Given the description of an element on the screen output the (x, y) to click on. 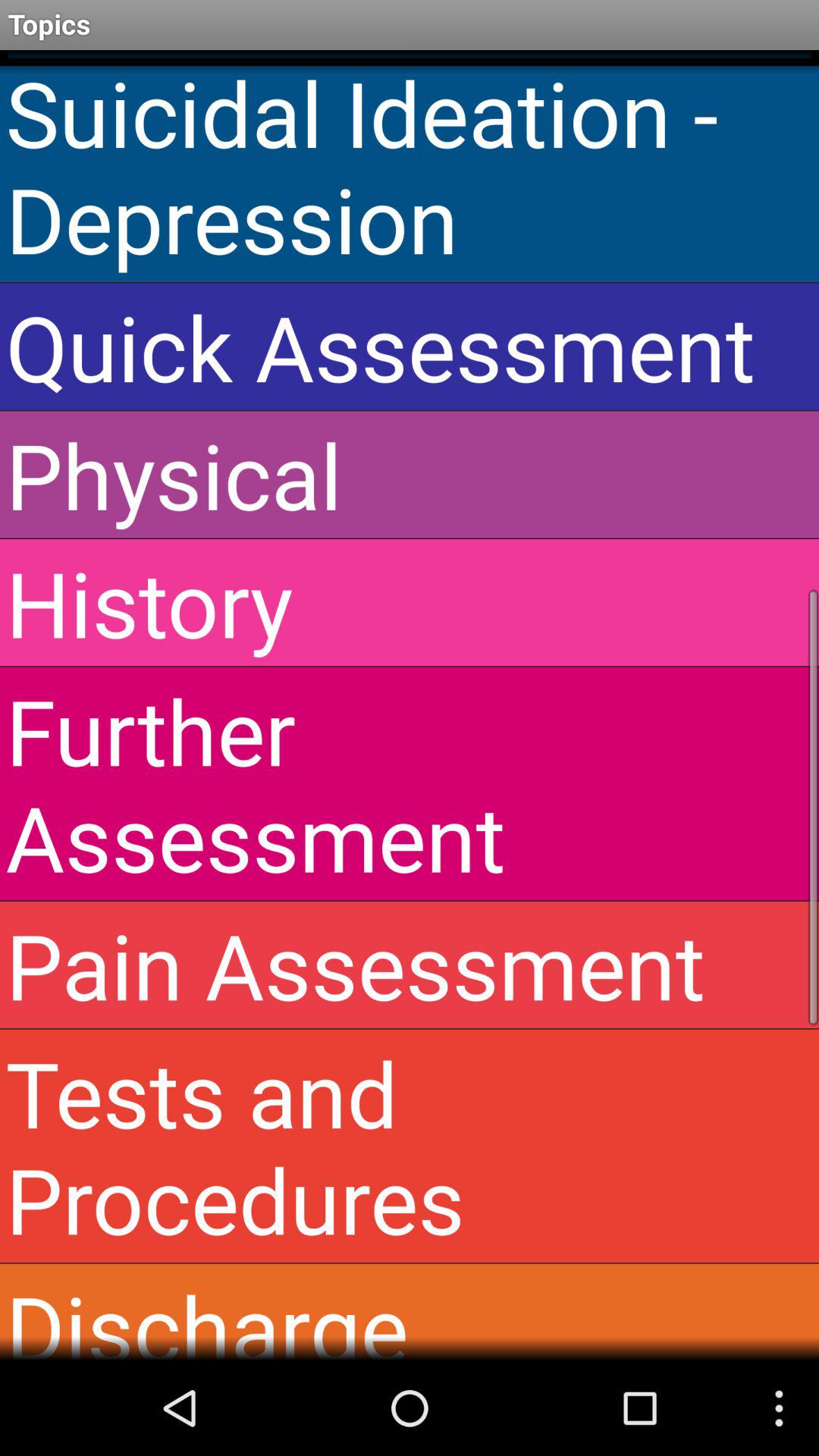
swipe to the discharge instruction icon (409, 1311)
